Given the description of an element on the screen output the (x, y) to click on. 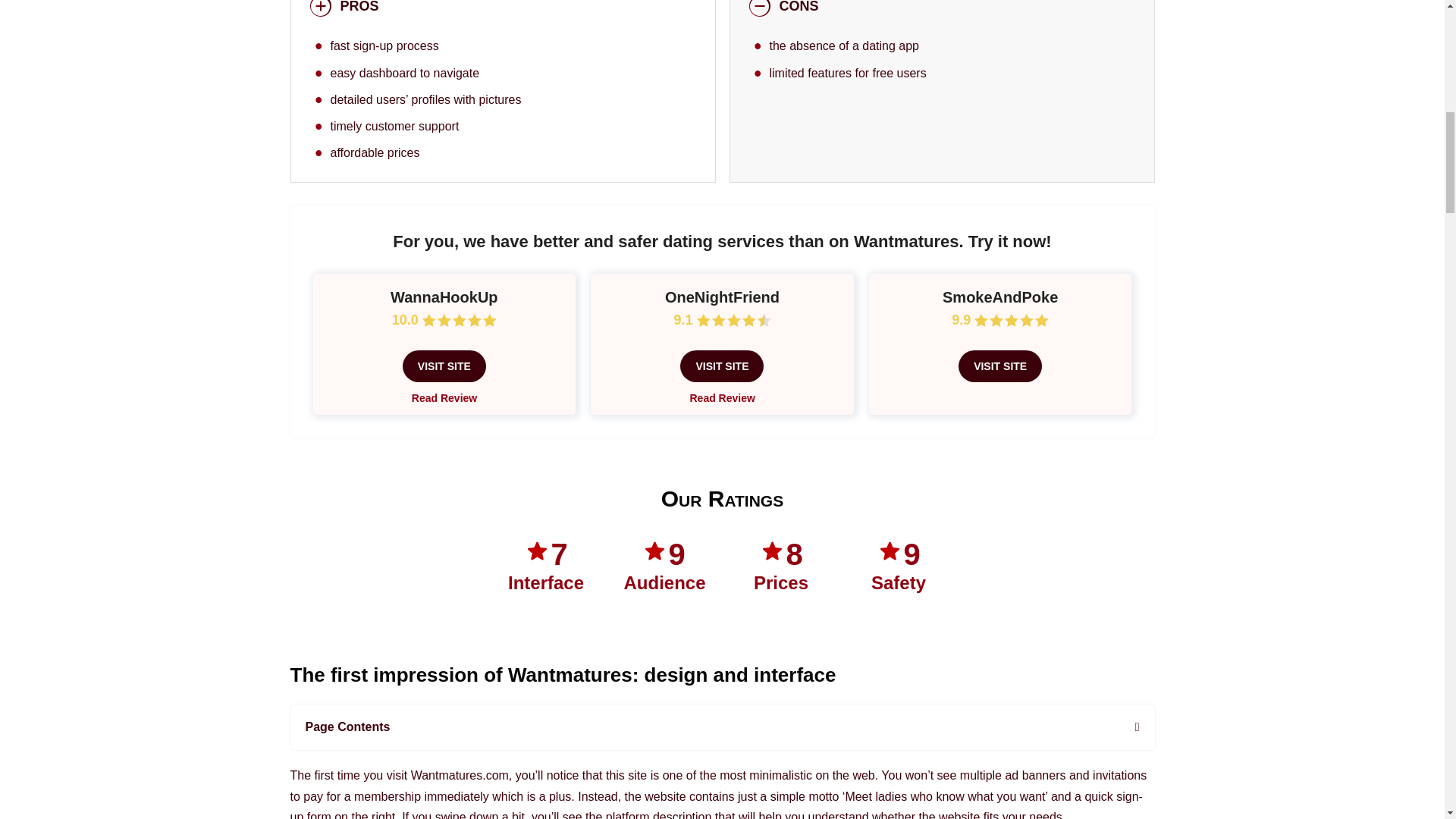
Our Score (732, 319)
VISIT SITE (444, 366)
Read Review (720, 398)
Our Score (1011, 319)
Read Review (444, 398)
Our Score (459, 319)
VISIT SITE (720, 366)
